Given the description of an element on the screen output the (x, y) to click on. 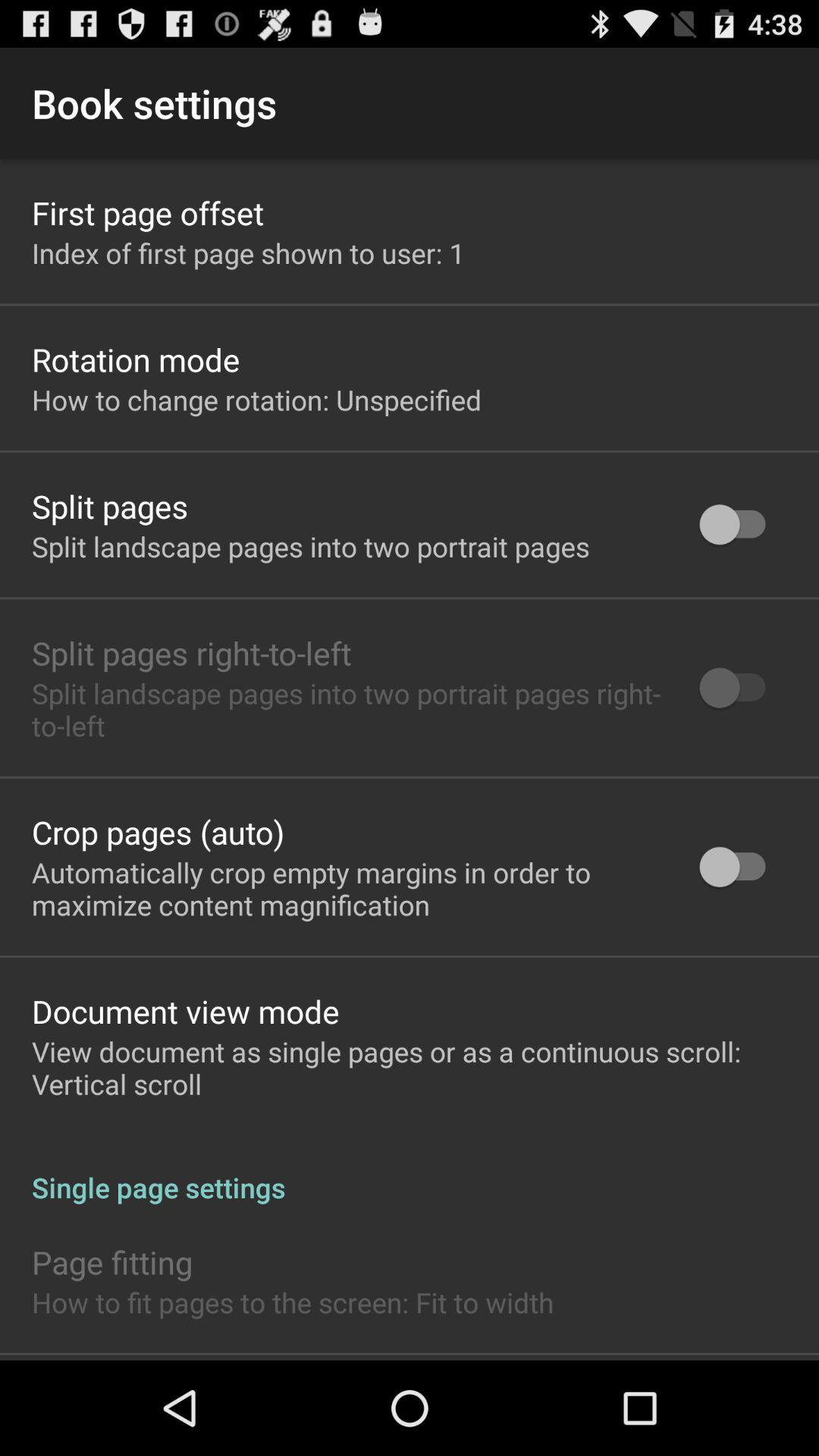
flip to the crop pages (auto) (157, 831)
